Given the description of an element on the screen output the (x, y) to click on. 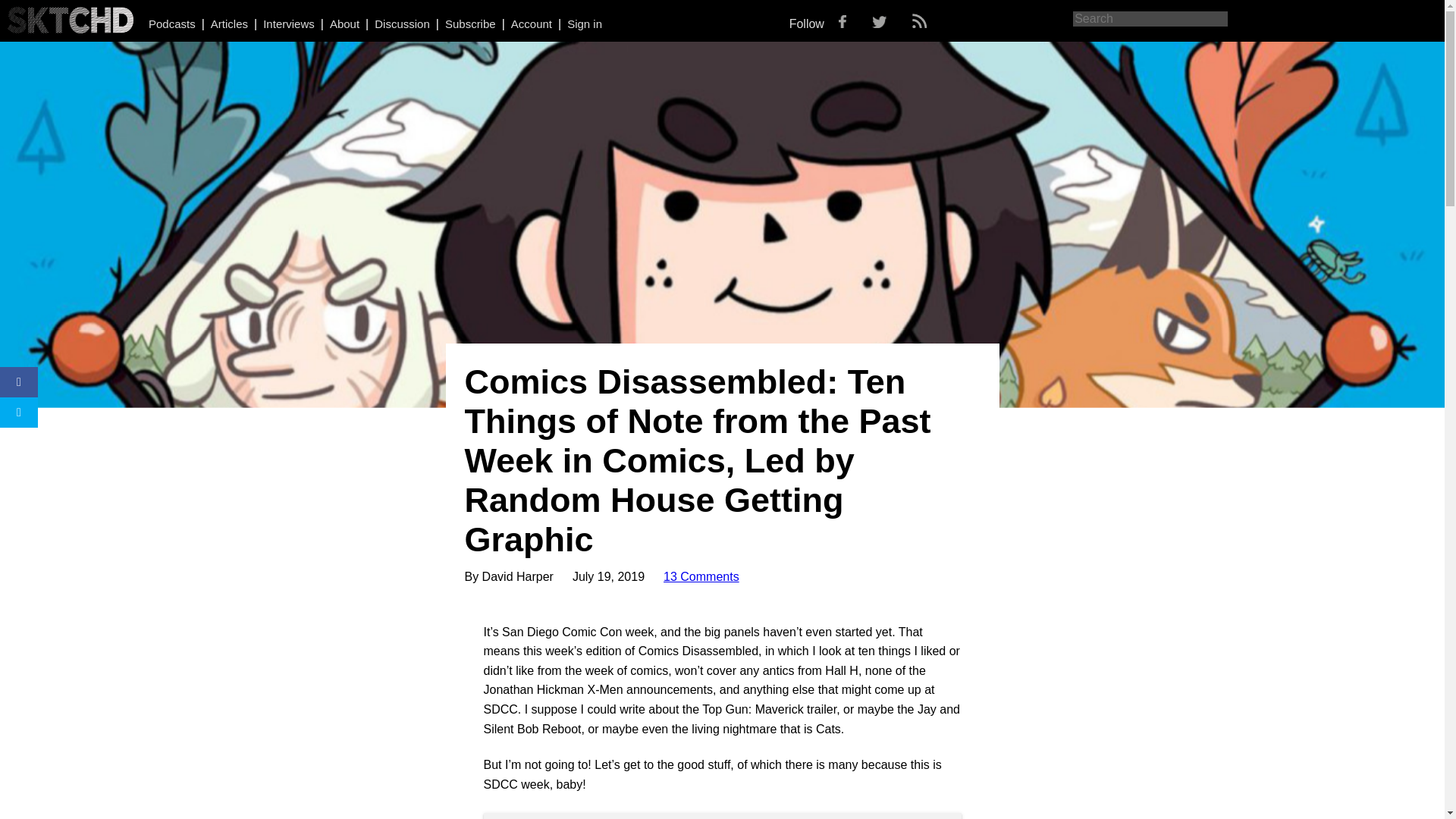
Account (531, 23)
About (344, 23)
Subscribe (470, 23)
Articles (229, 23)
Podcasts (171, 23)
Discussion (401, 23)
Interviews (288, 23)
13 Comments (701, 576)
Sign in (584, 23)
